Given the description of an element on the screen output the (x, y) to click on. 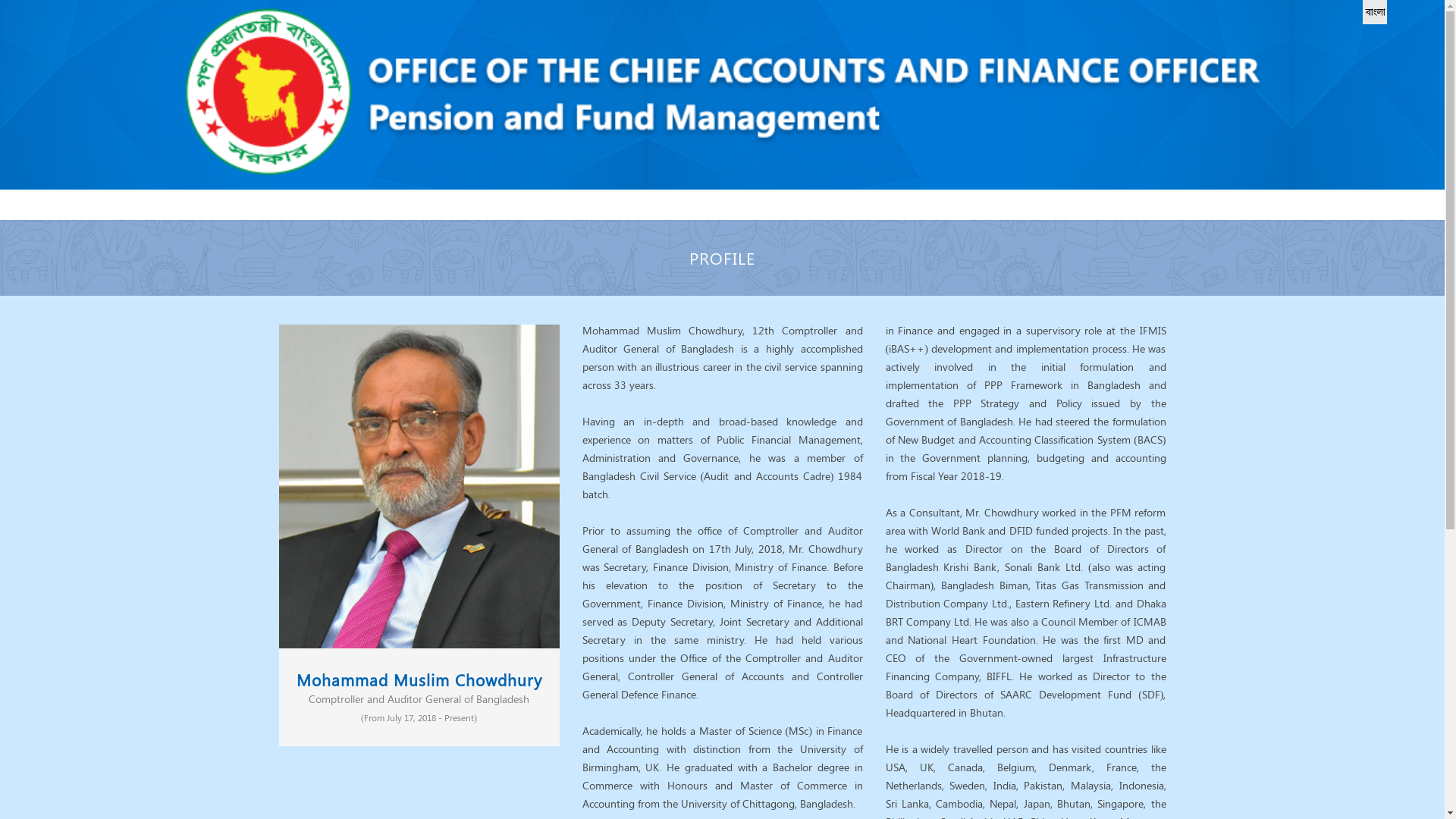
Contact us Element type: text (596, 197)
Mohammad Muslim Chowdhury Element type: text (418, 679)
About Us Element type: text (372, 197)
References Element type: text (441, 197)
Mark Whilberg Element type: hover (419, 486)
Home Element type: text (316, 197)
FAQ Element type: text (542, 197)
Forms Element type: text (501, 197)
